Given the description of an element on the screen output the (x, y) to click on. 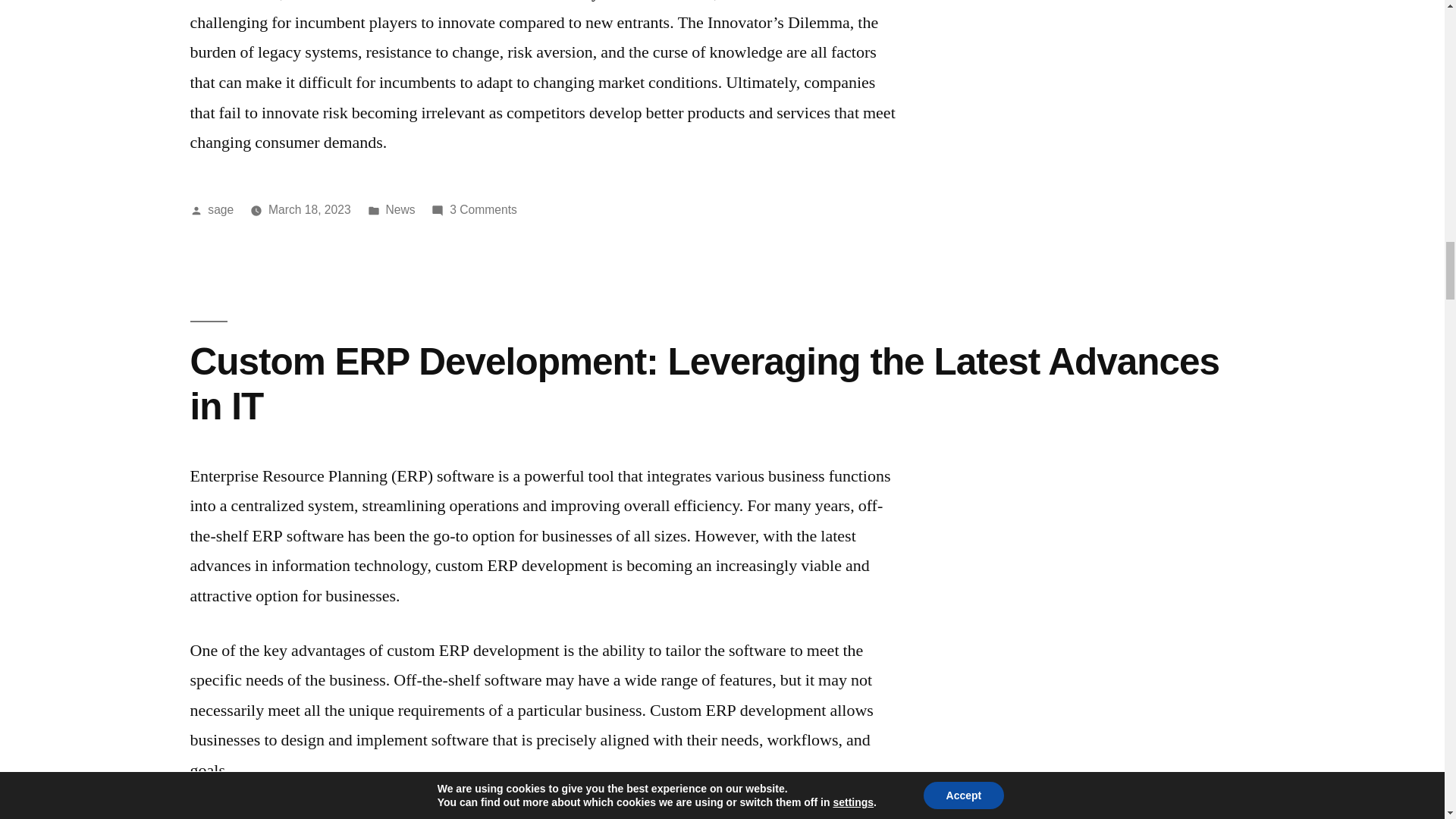
Custom ERP Development: Leveraging the Latest Advances in IT (704, 383)
sage (220, 209)
News (399, 209)
March 18, 2023 (308, 209)
